Given the description of an element on the screen output the (x, y) to click on. 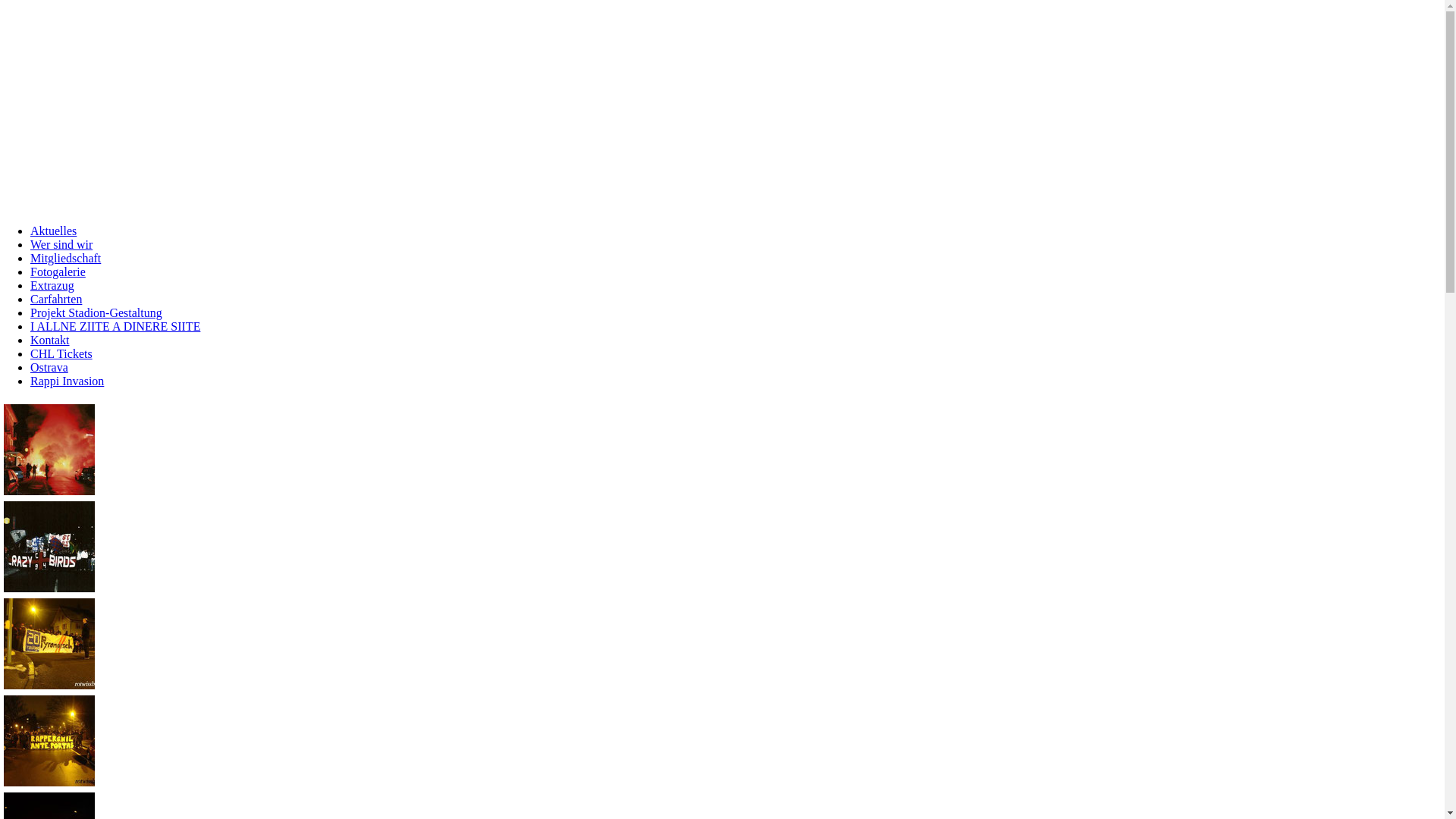
Wer sind wir Element type: text (61, 244)
Aktuelles Element type: text (53, 230)
Mitgliedschaft Element type: text (65, 257)
Ostrava Element type: text (49, 366)
Fotogalerie Element type: text (57, 271)
Projekt Stadion-Gestaltung Element type: text (96, 312)
I ALLNE ZIITE A DINERE SIITE Element type: text (115, 326)
CHL Tickets Element type: text (61, 353)
Carfahrten Element type: text (55, 298)
Kontakt Element type: text (49, 339)
Rappi Invasion Element type: text (66, 380)
Extrazug Element type: text (52, 285)
